Given the description of an element on the screen output the (x, y) to click on. 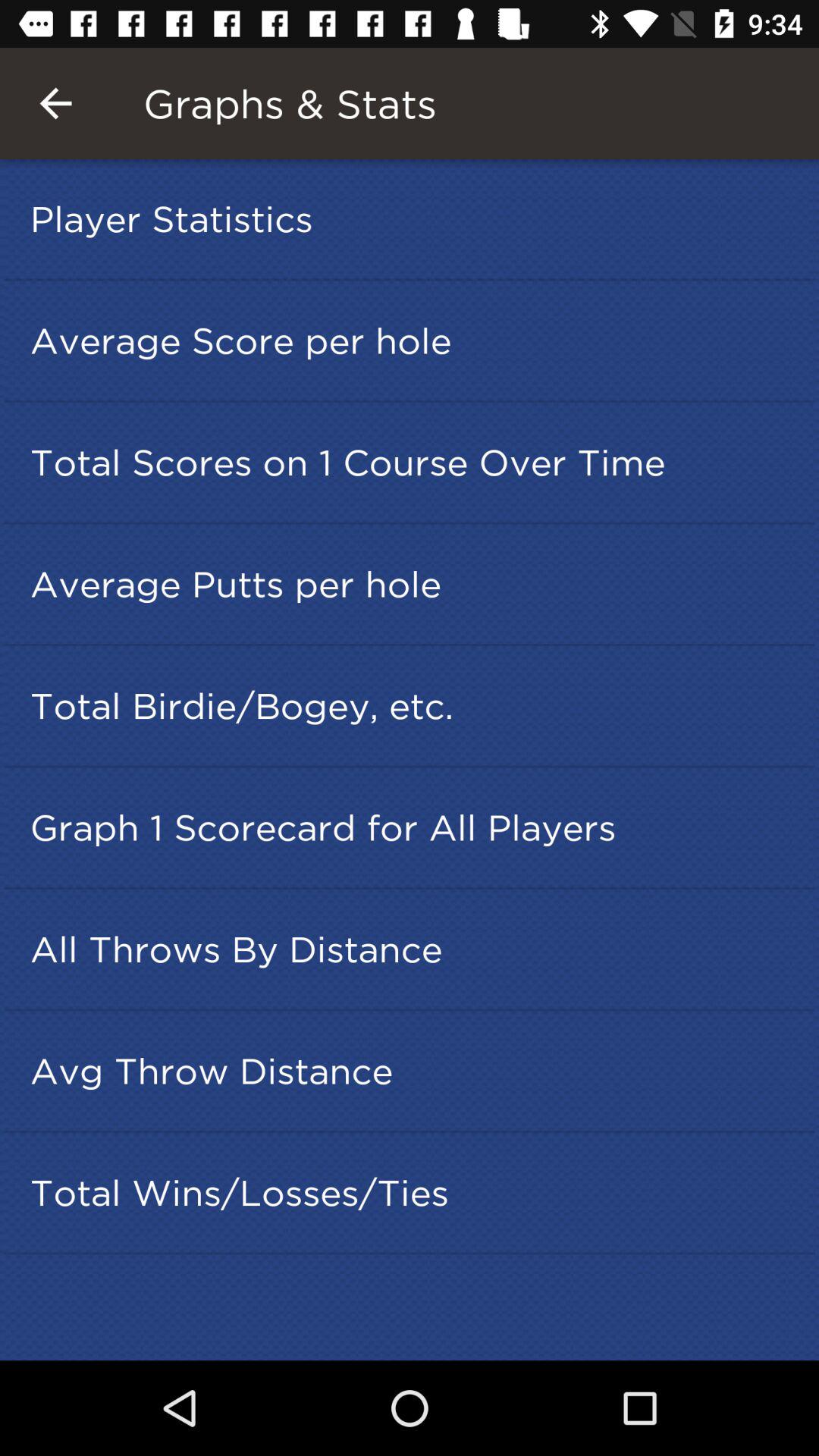
choose icon below total birdie bogey icon (414, 827)
